Given the description of an element on the screen output the (x, y) to click on. 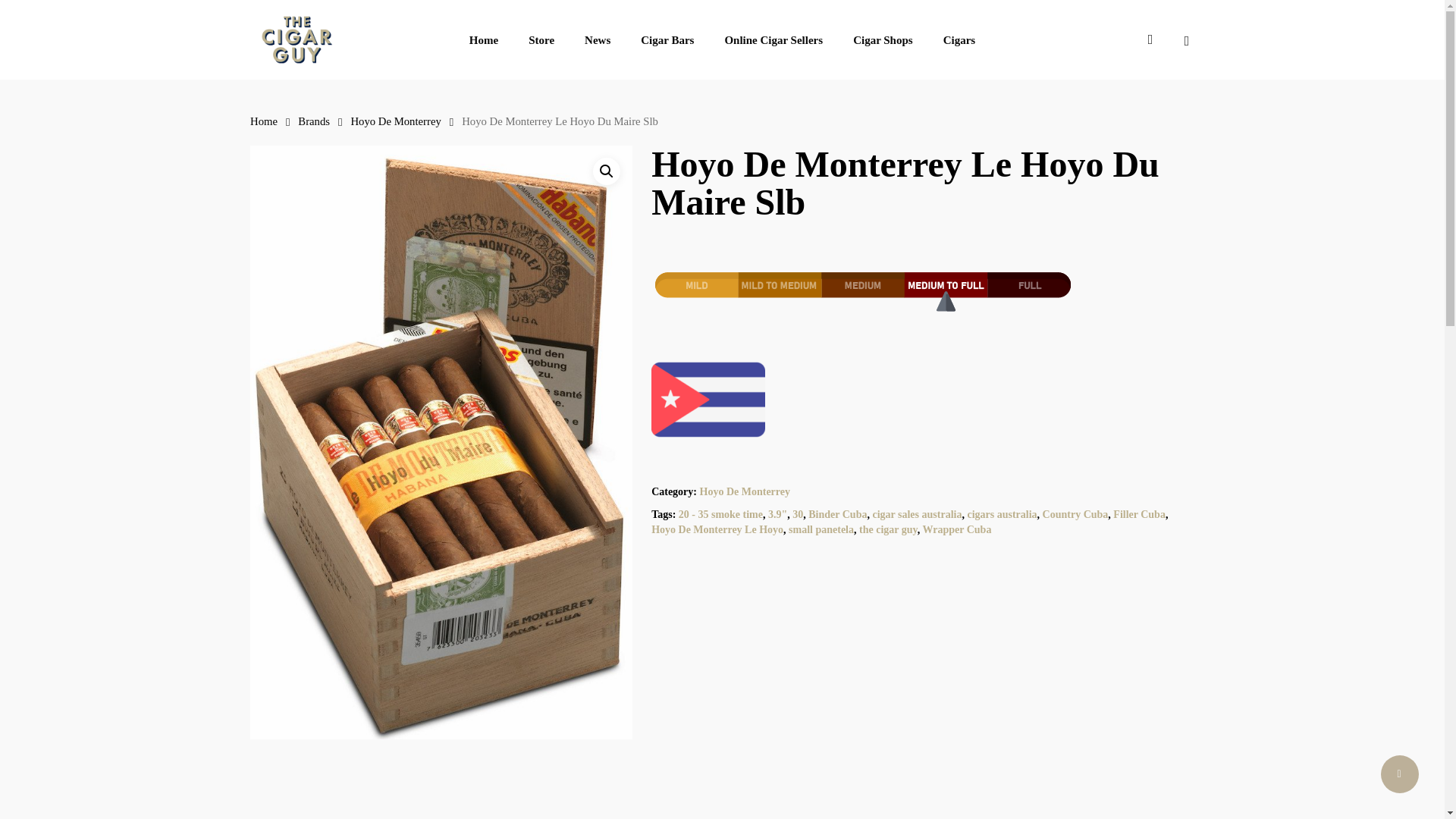
Cigar Bars (667, 40)
20 - 35 smoke time (720, 513)
Home (482, 40)
Home (264, 120)
instagram (1150, 39)
Hoyo De Monterrey (395, 120)
News (597, 40)
Online Cigar Sellers (772, 40)
Hoyo De Monterrey (743, 491)
Cigar Shops (882, 40)
Cigars (959, 40)
3.9" (777, 513)
Binder Cuba (837, 513)
cigar sales australia (916, 513)
Store (541, 40)
